Given the description of an element on the screen output the (x, y) to click on. 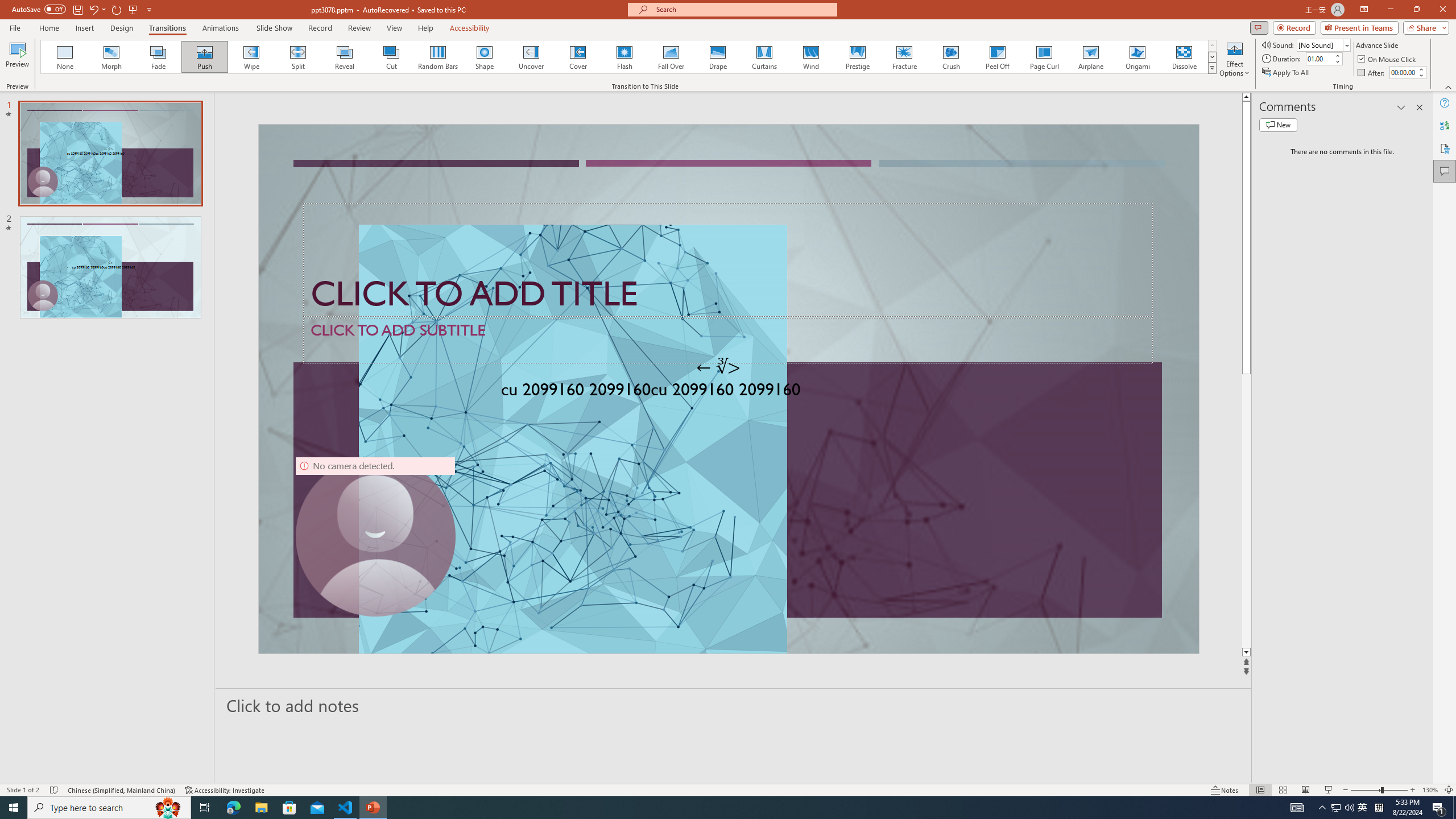
Comments (1259, 27)
Origami (1136, 56)
